Given the description of an element on the screen output the (x, y) to click on. 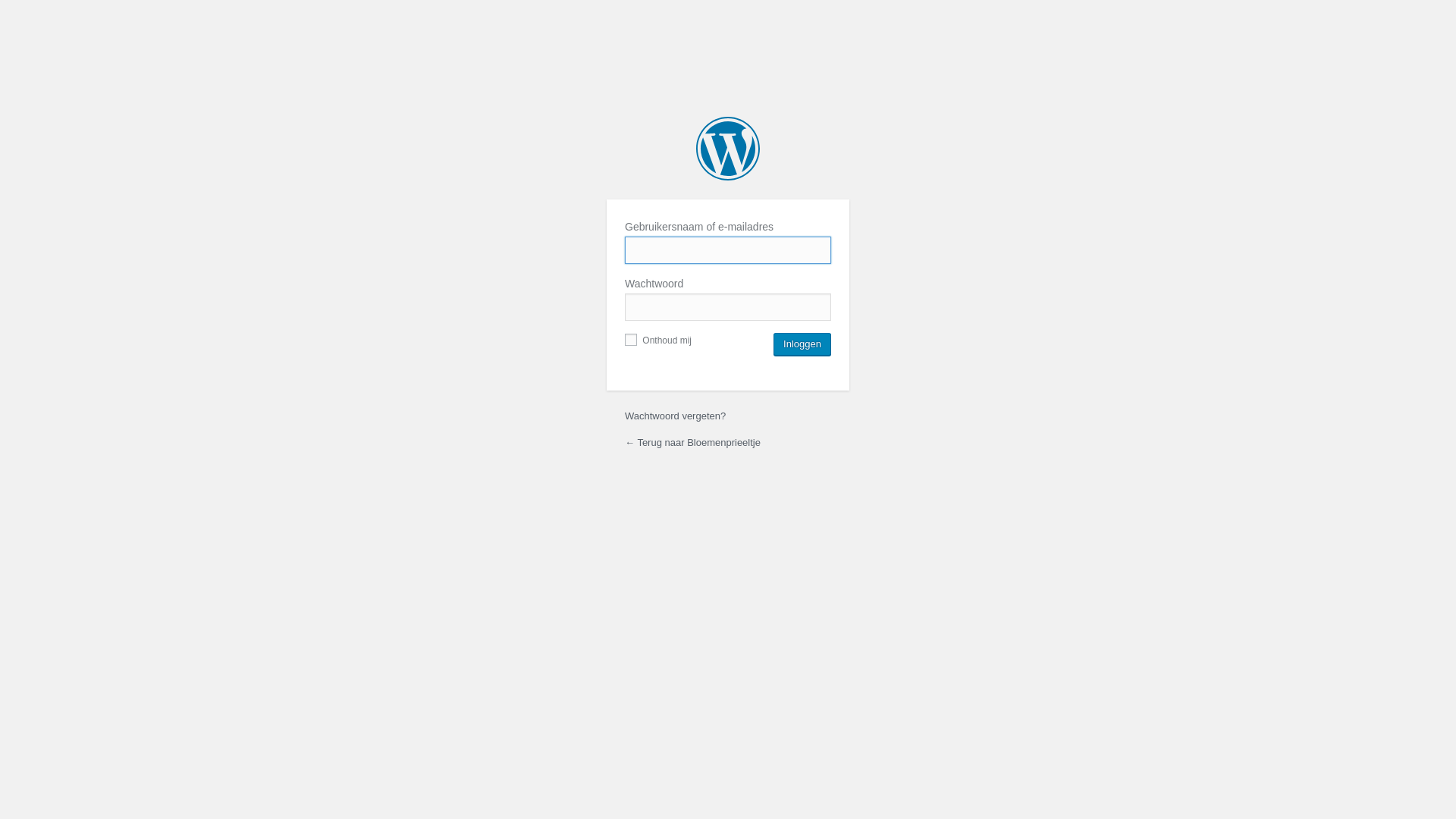
Wachtwoord vergeten? Element type: text (674, 415)
Inloggen Element type: text (802, 343)
Mogelijk gemaakt door WordPress Element type: text (727, 148)
